Given the description of an element on the screen output the (x, y) to click on. 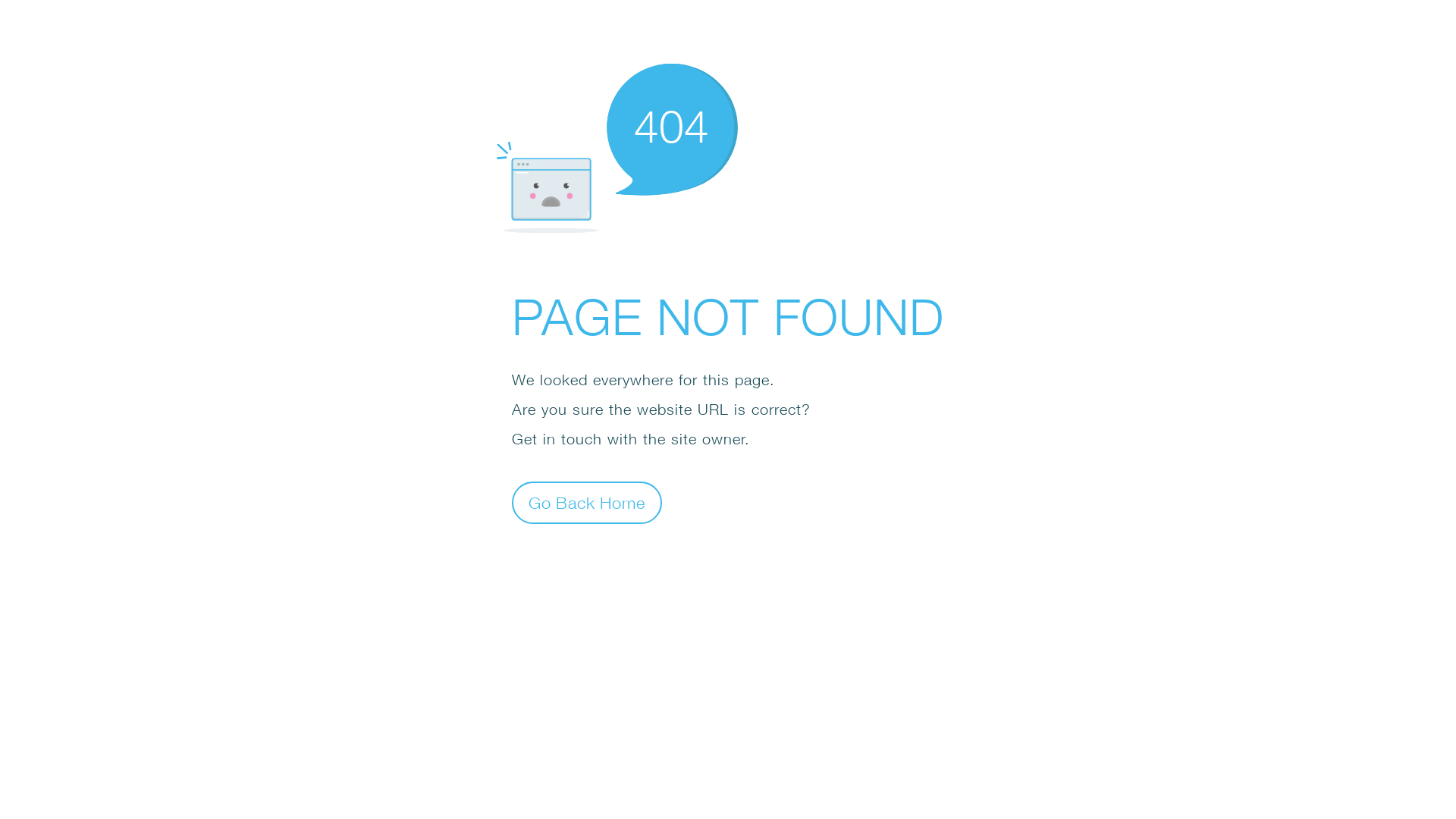
Go Back Home Element type: text (586, 502)
